Given the description of an element on the screen output the (x, y) to click on. 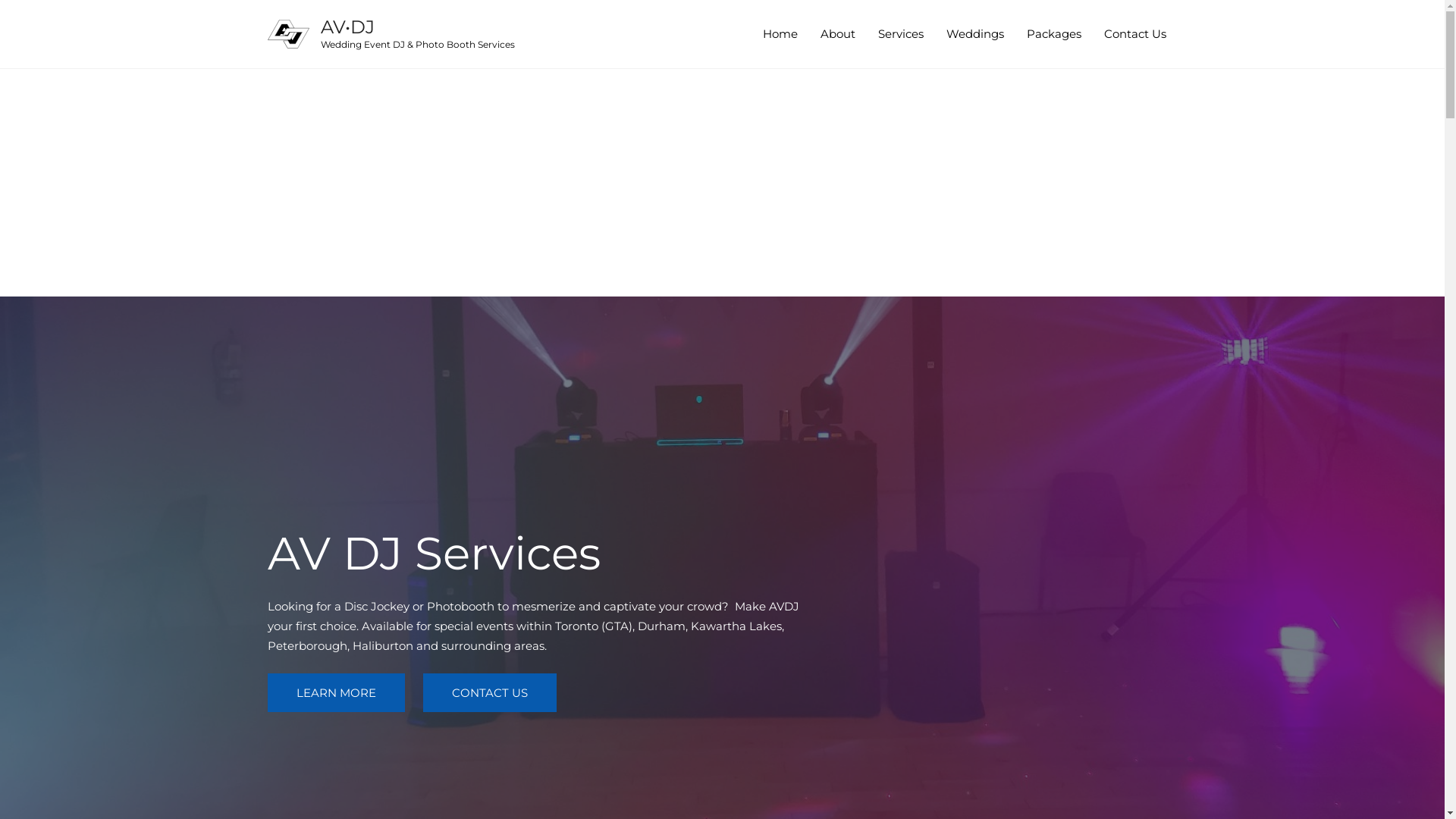
About Element type: text (837, 33)
Packages Element type: text (1053, 33)
CONTACT US Element type: text (489, 692)
Contact Us Element type: text (1134, 33)
Services Element type: text (900, 33)
Weddings Element type: text (974, 33)
LEARN MORE Element type: text (335, 692)
Home Element type: text (779, 33)
Advertisement Element type: hover (721, 182)
